Given the description of an element on the screen output the (x, y) to click on. 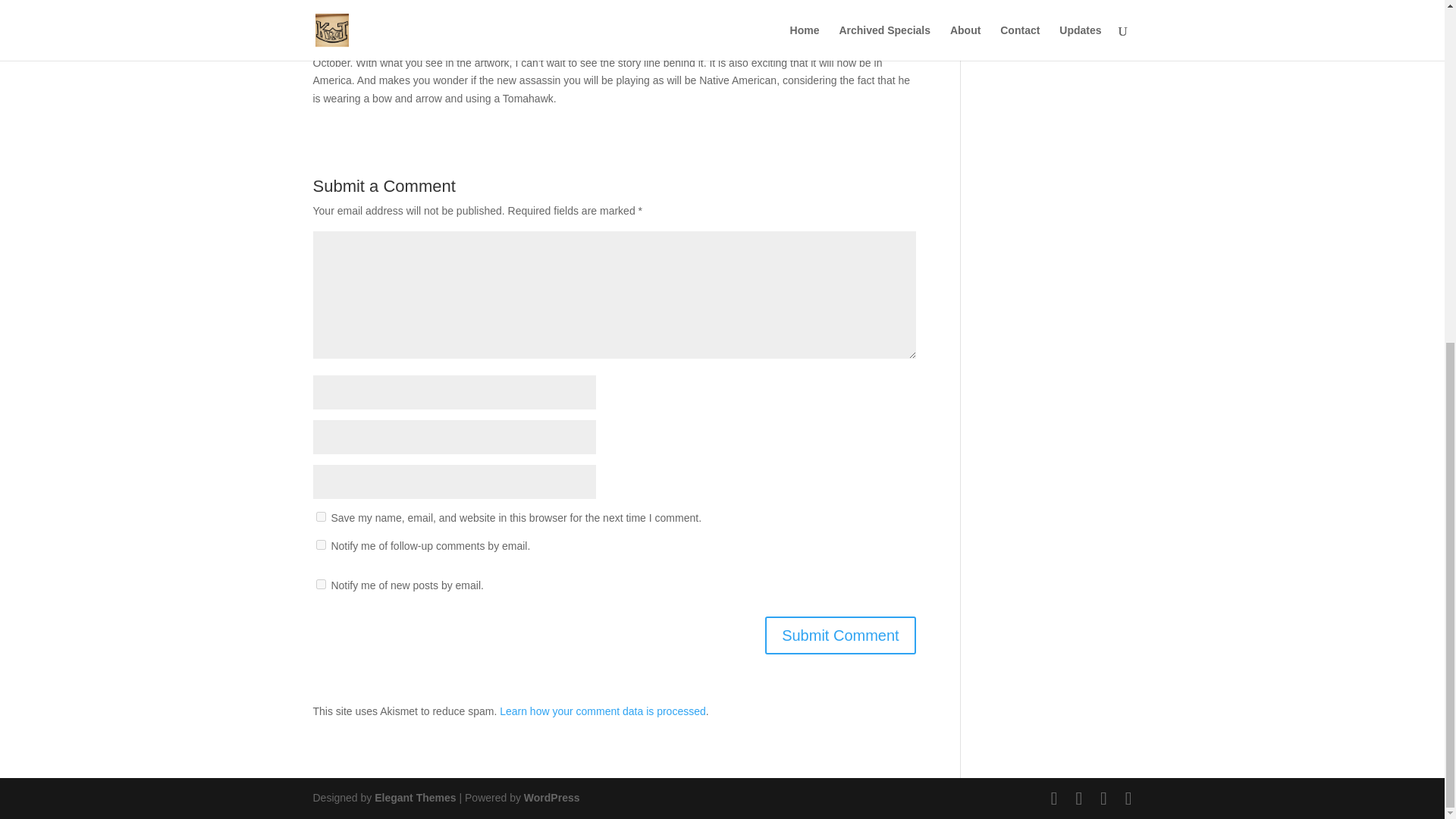
Elegant Themes (414, 797)
Learn how your comment data is processed (602, 711)
Premium WordPress Themes (414, 797)
subscribe (319, 544)
Submit Comment (840, 635)
Submit Comment (840, 635)
WordPress (551, 797)
subscribe (319, 583)
yes (319, 516)
